Given the description of an element on the screen output the (x, y) to click on. 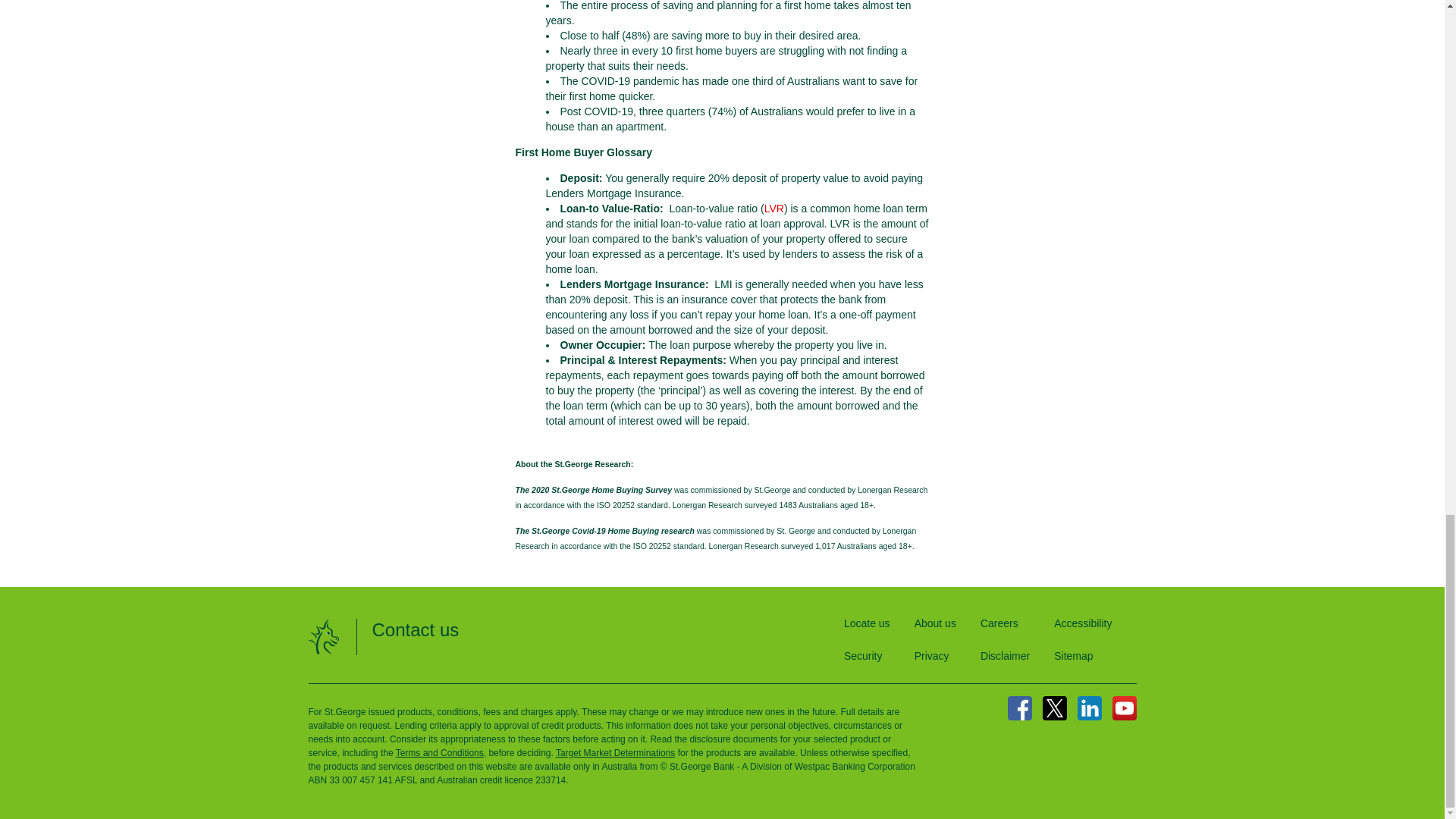
Facebook (1019, 708)
Youtube (1123, 708)
Follow us on Linkedin, Opens in new tab (1089, 708)
Follow us on Facebook, Opens in new tab (1019, 708)
Follow us on YouTube, Opens in new tab (1123, 708)
LinkedIn (1089, 708)
Twitter (1054, 708)
Follow us on Twitter, Opens in new tab (1054, 708)
